Given the description of an element on the screen output the (x, y) to click on. 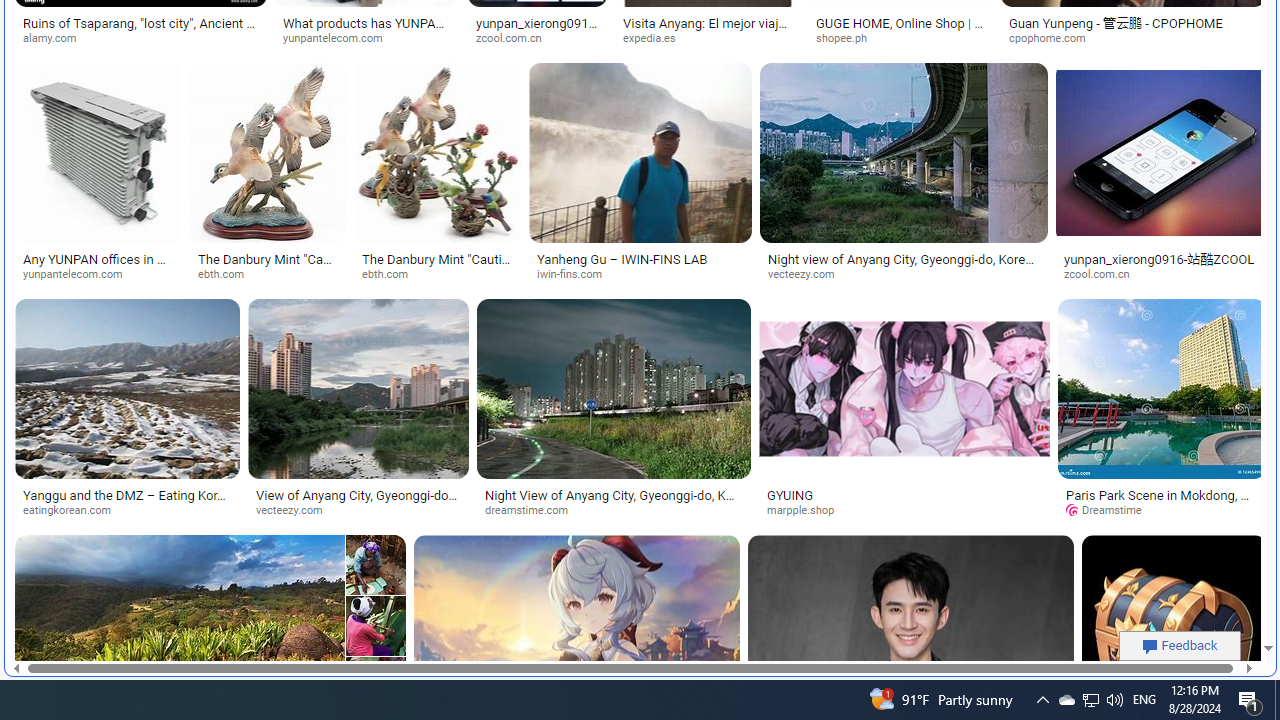
zcool.com.cn (1103, 273)
zcool.com.cn (1160, 274)
GUGE HOME, Online Shop | Shopee Philippines (900, 30)
